Given the description of an element on the screen output the (x, y) to click on. 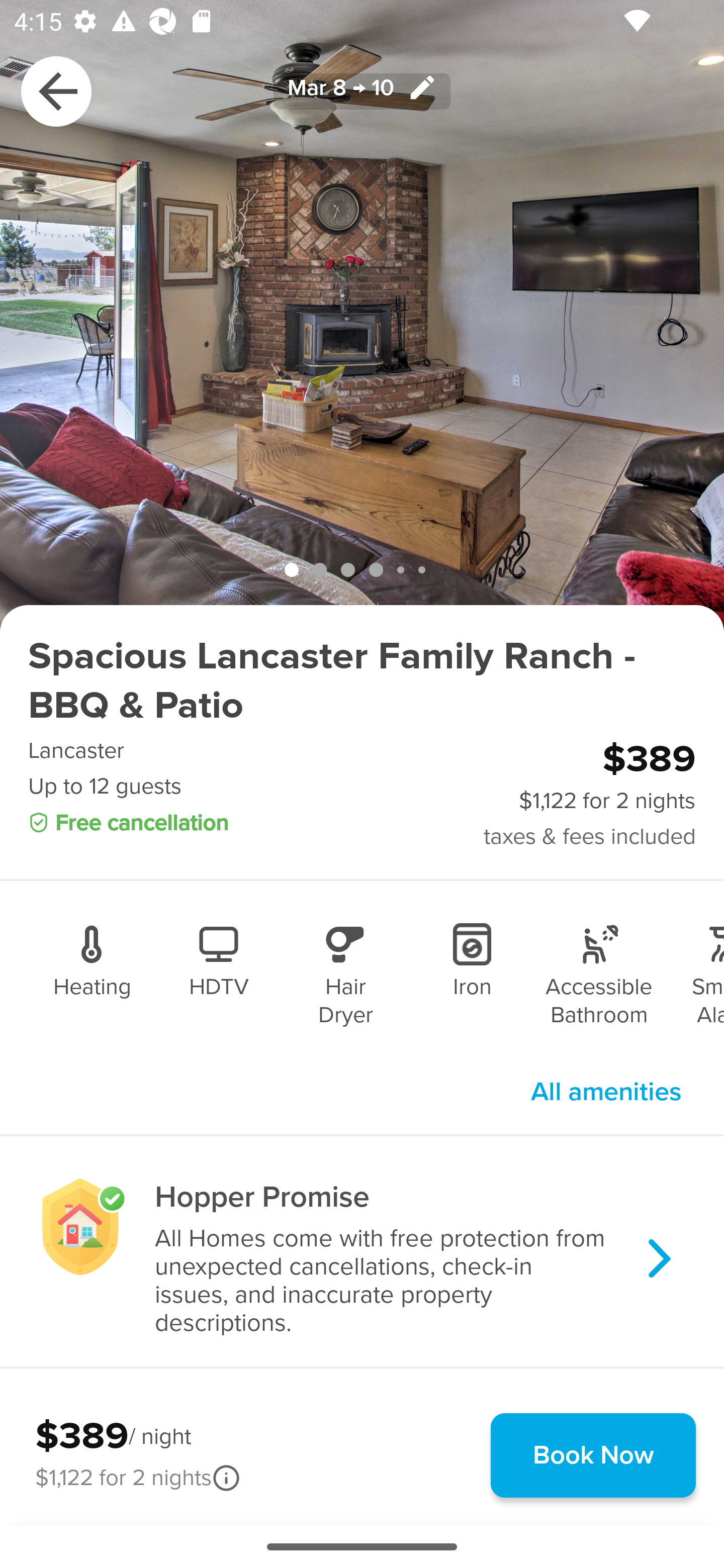
Mar 8 → 10 (361, 90)
Spacious Lancaster Family Ranch - BBQ & Patio (361, 681)
All amenities (606, 1091)
Book Now (592, 1454)
